Given the description of an element on the screen output the (x, y) to click on. 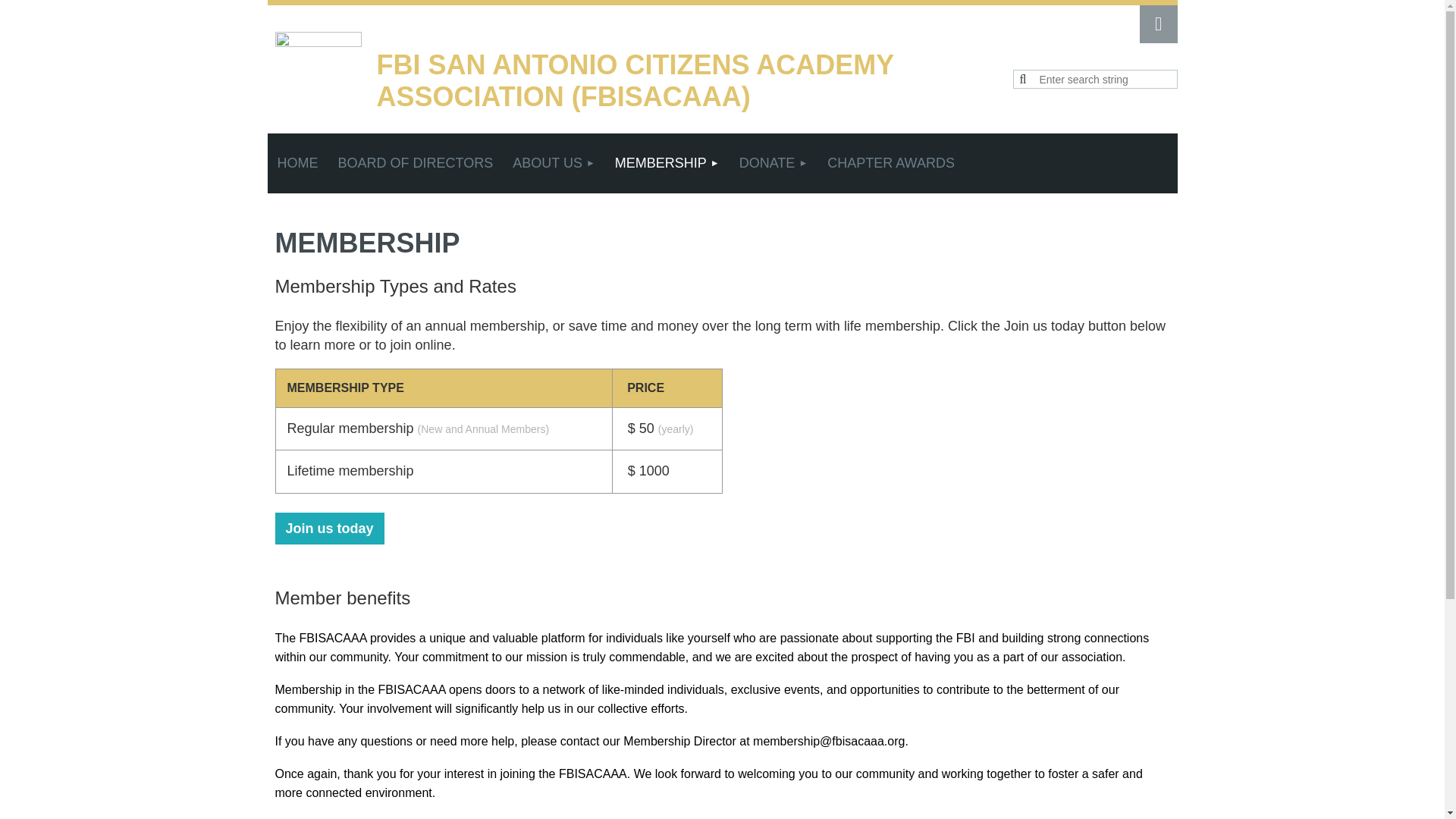
ABOUT US (553, 163)
BOARD OF DIRECTORS (414, 163)
Home (296, 163)
CHAPTER AWARDS (889, 163)
HOME (296, 163)
MEMBERSHIP (667, 163)
BOARD OF DIRECTORS (414, 163)
Log in (1157, 23)
Log in (1157, 23)
ABOUT US (553, 163)
Join us today (329, 528)
DONATE (773, 163)
